Given the description of an element on the screen output the (x, y) to click on. 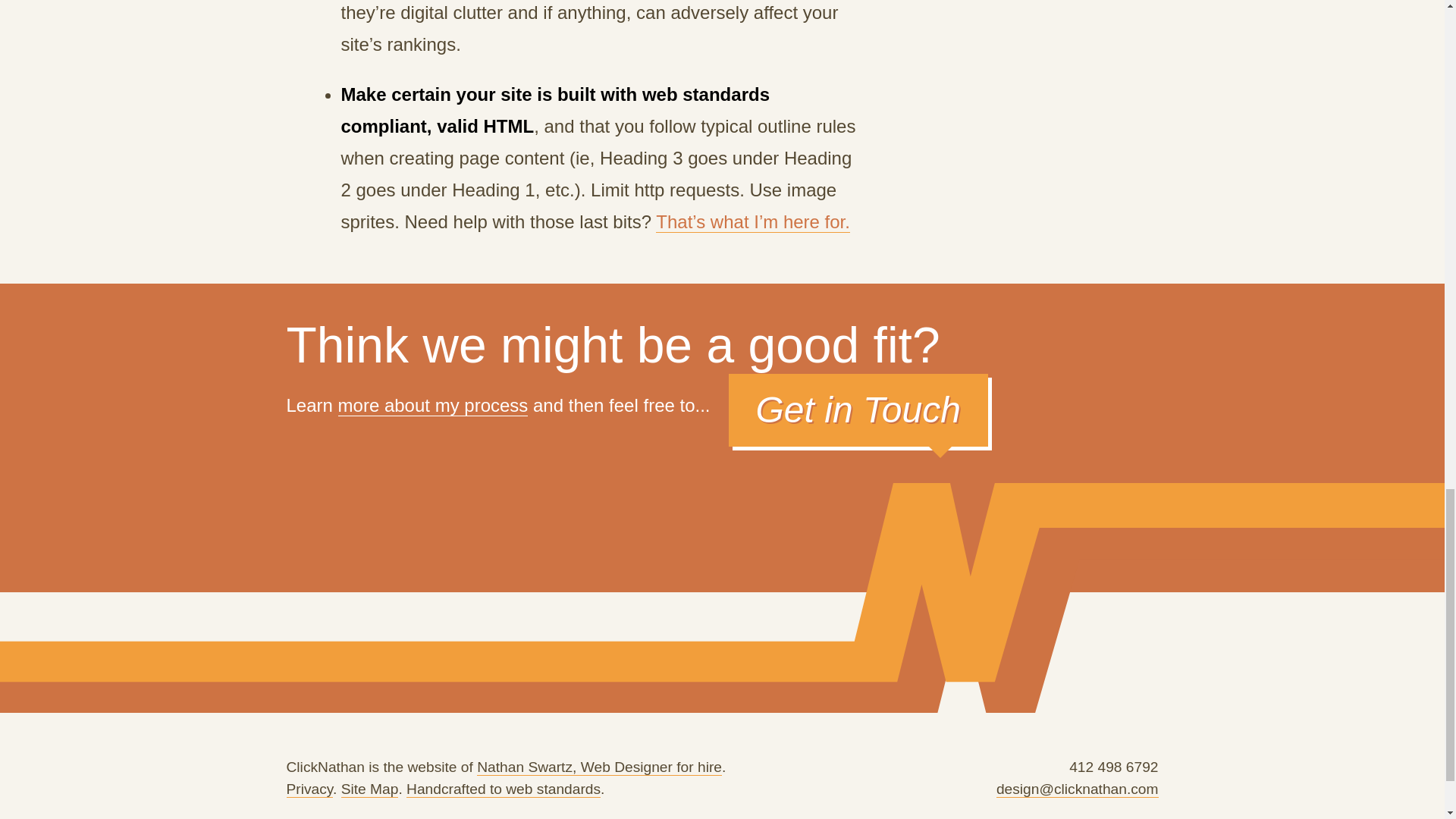
Nathan Swartz, Web Designer for hire (599, 767)
Privacy (309, 789)
more about my process (432, 404)
Site Map (369, 789)
Get in Touch (858, 409)
Handcrafted to web standards (502, 789)
